Given the description of an element on the screen output the (x, y) to click on. 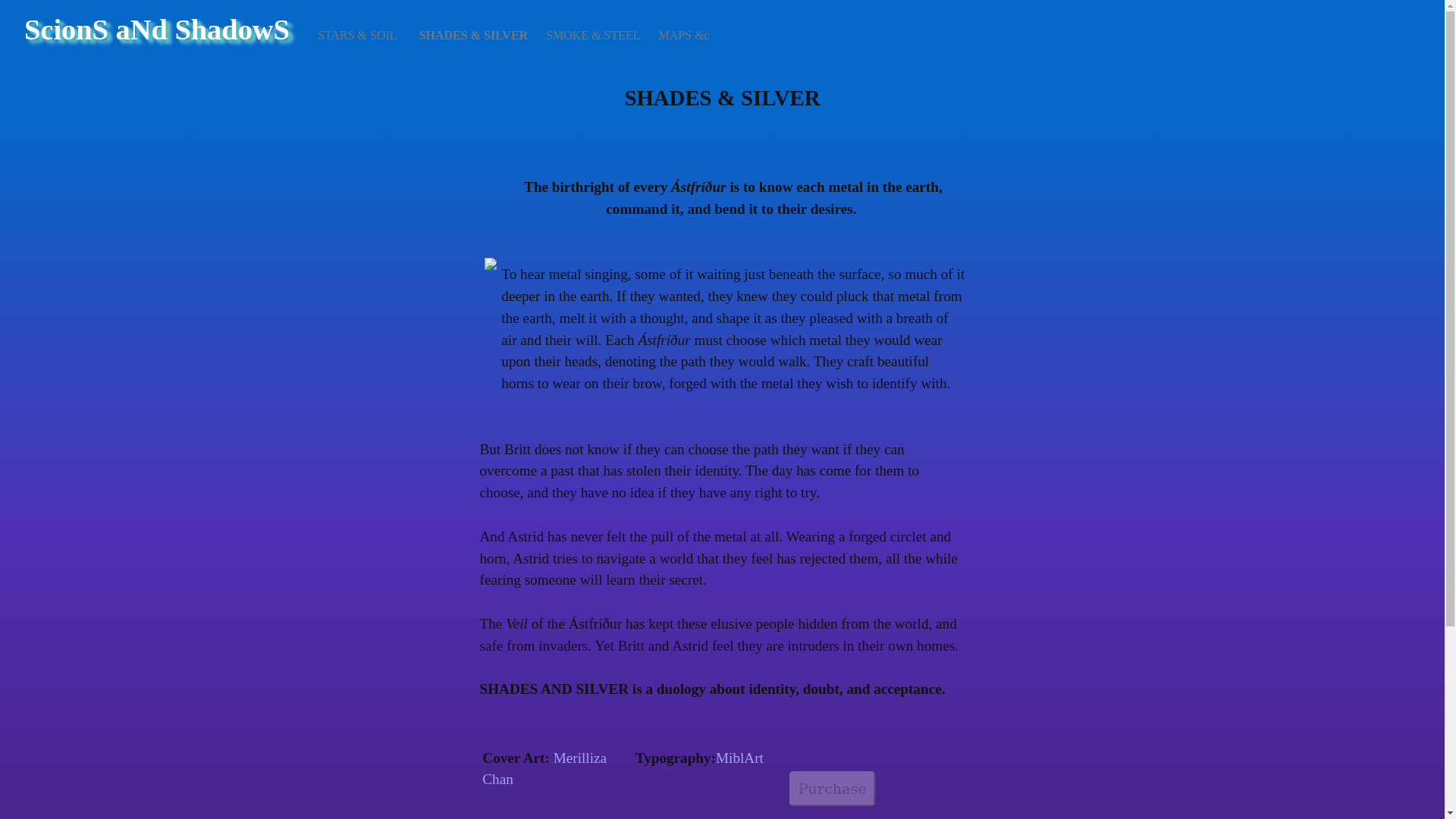
ScionS aNd ShadowS (156, 29)
Purchase (832, 788)
MiblArt (739, 757)
Merilliza Chan (545, 768)
